Given the description of an element on the screen output the (x, y) to click on. 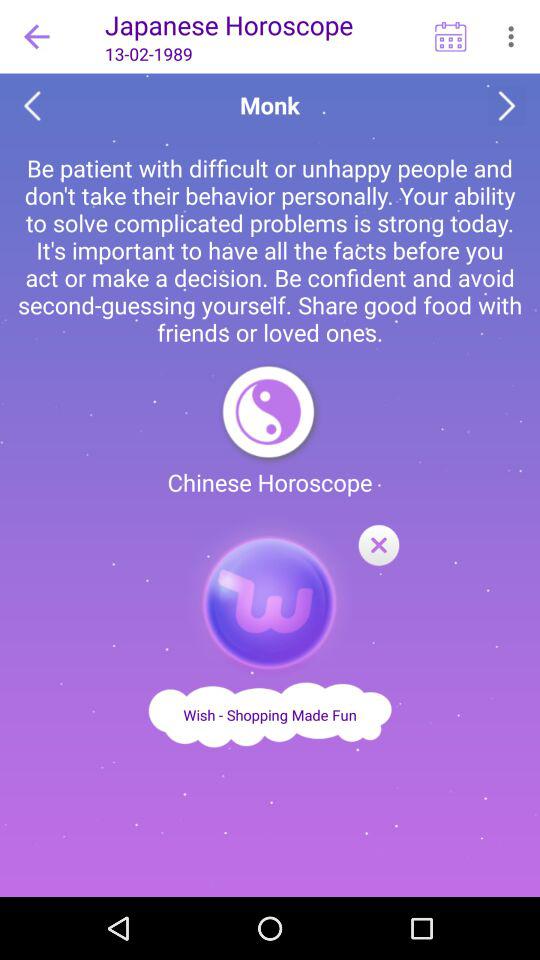
close mark (378, 546)
